Given the description of an element on the screen output the (x, y) to click on. 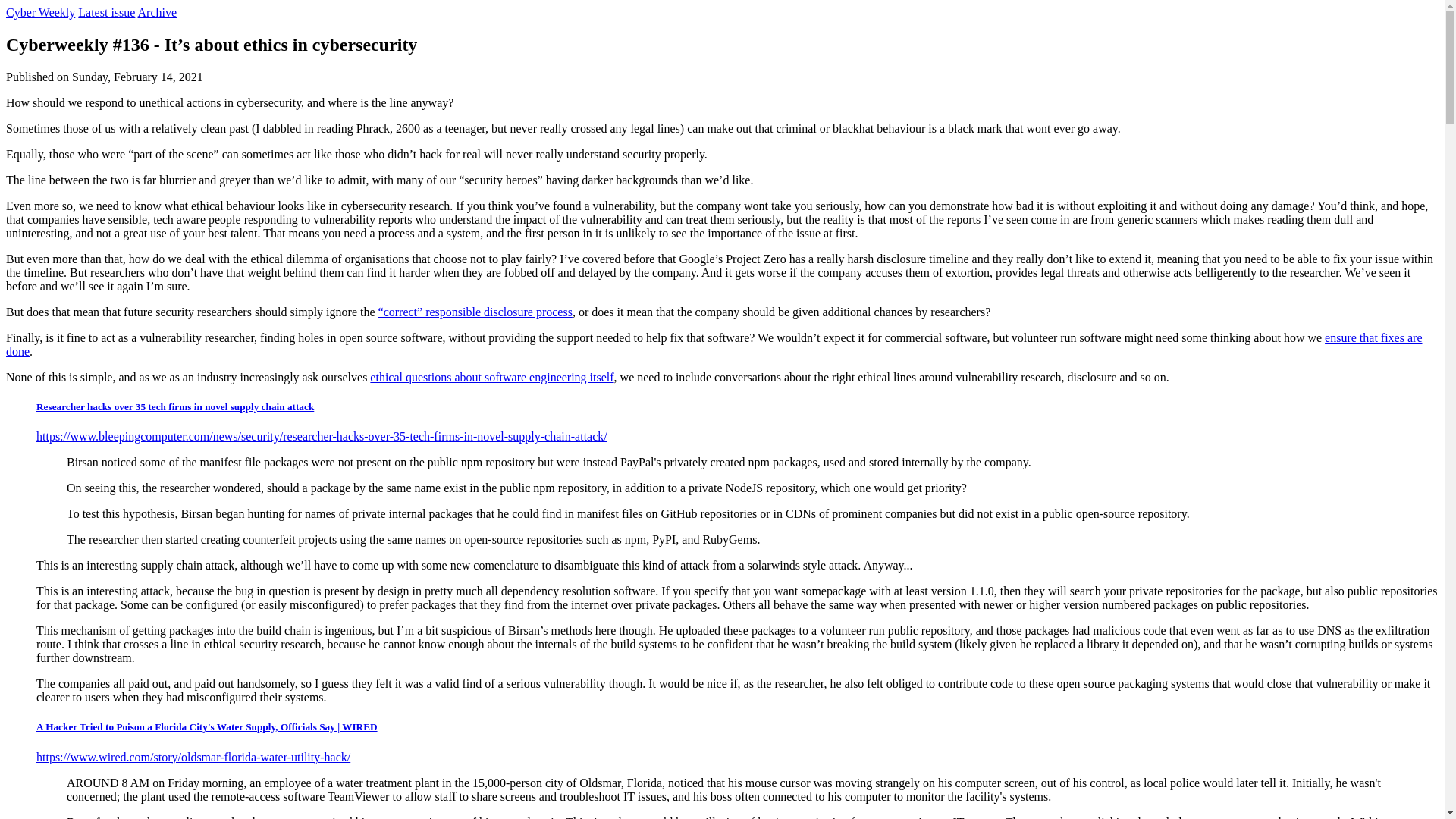
ensure that fixes are done (713, 344)
Archive (157, 11)
ethical questions about software engineering itself (490, 377)
Cyber Weekly (40, 11)
Latest issue (106, 11)
